Given the description of an element on the screen output the (x, y) to click on. 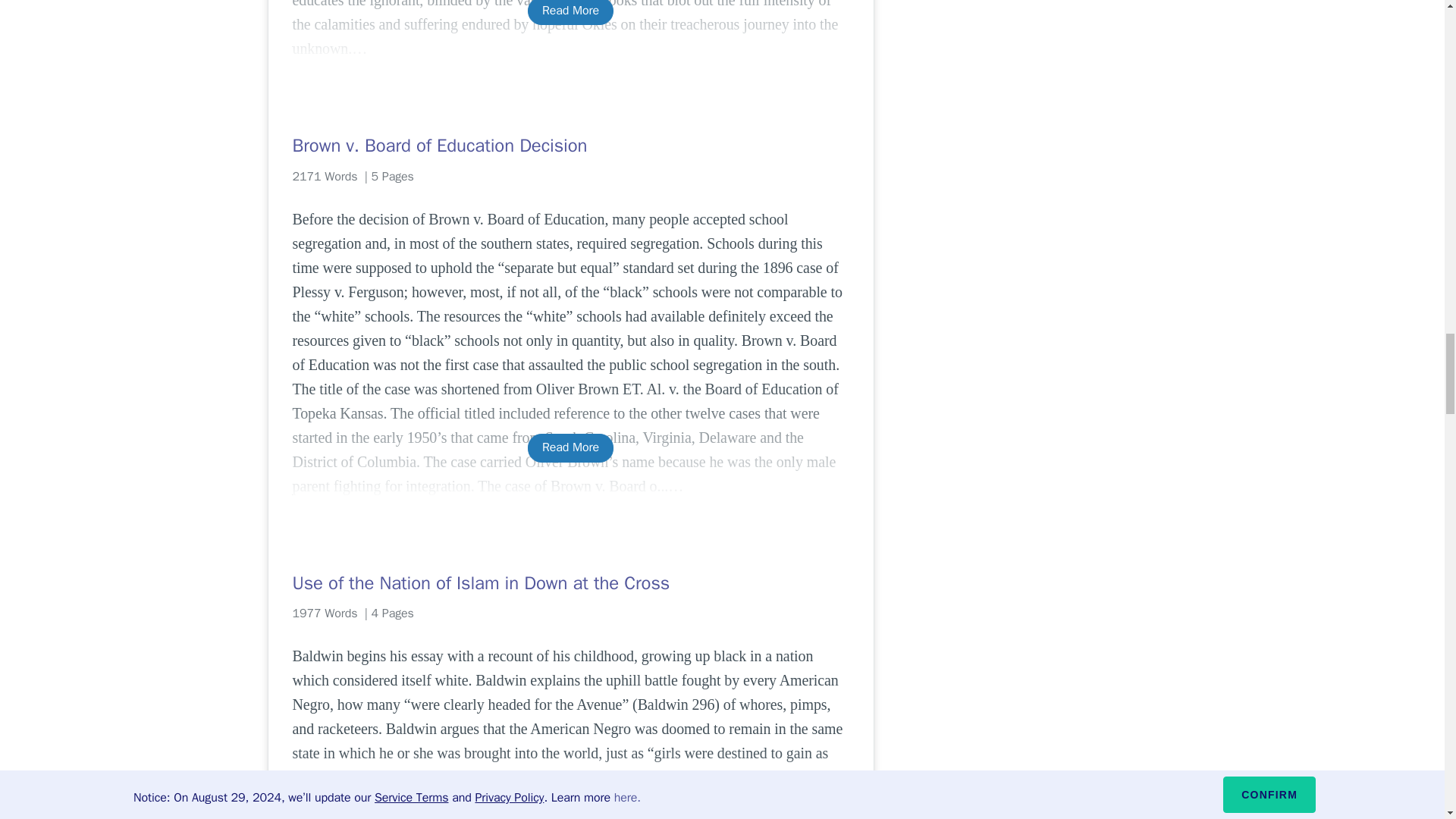
Read More (569, 808)
Read More (569, 447)
Use of the Nation of Islam in Down at the Cross (570, 582)
Read More (569, 12)
Brown v. Board of Education Decision (570, 145)
